Given the description of an element on the screen output the (x, y) to click on. 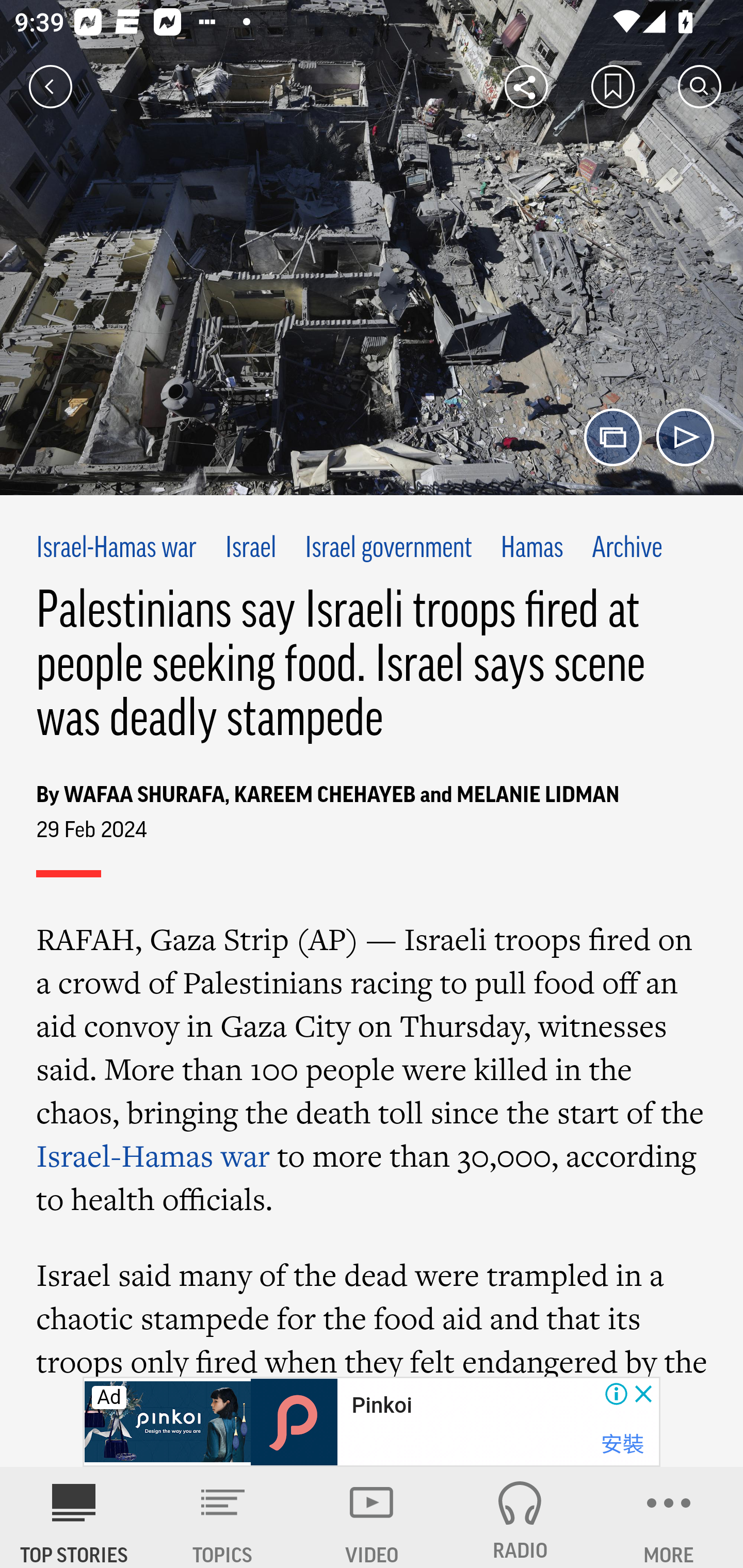
Israel-Hamas war (117, 549)
Israel (250, 549)
Israel government (388, 549)
Hamas (531, 549)
Archive (625, 549)
Israel-Hamas war (153, 1155)
Pinkoi (381, 1405)
安裝 (621, 1444)
AP News TOP STORIES (74, 1517)
TOPICS (222, 1517)
VIDEO (371, 1517)
RADIO (519, 1517)
MORE (668, 1517)
